Given the description of an element on the screen output the (x, y) to click on. 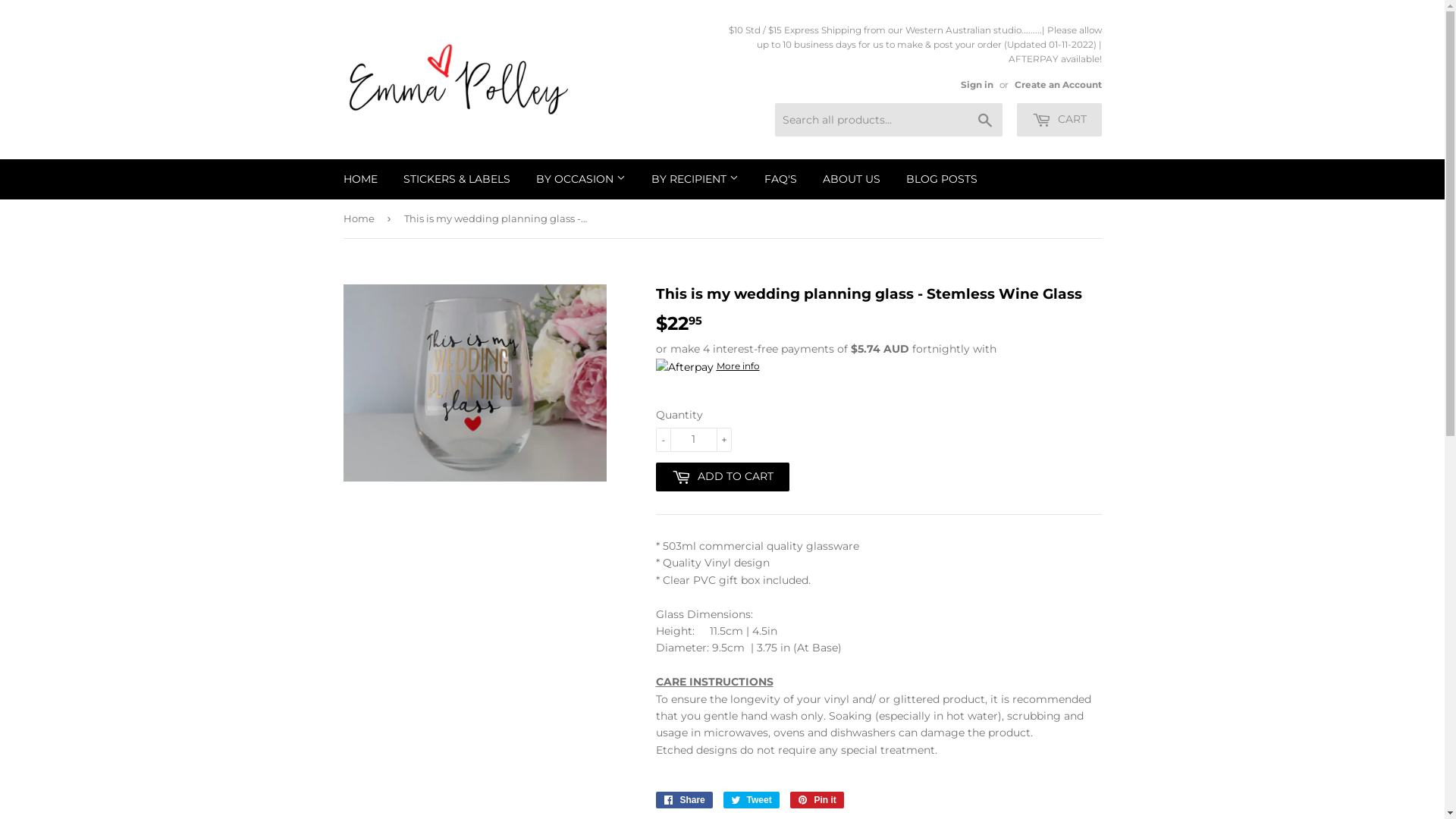
More info Element type: text (707, 366)
Share
Share on Facebook Element type: text (683, 799)
ADD TO CART Element type: text (721, 476)
STICKERS & LABELS Element type: text (455, 178)
BLOG POSTS Element type: text (941, 178)
Pin it
Pin on Pinterest Element type: text (817, 799)
BY OCCASION Element type: text (580, 178)
CART Element type: text (1058, 119)
HOME Element type: text (360, 178)
FAQ'S Element type: text (779, 178)
ABOUT US Element type: text (851, 178)
Sign in Element type: text (976, 84)
Home Element type: text (360, 218)
Create an Account Element type: text (1057, 84)
Tweet
Tweet on Twitter Element type: text (751, 799)
BY RECIPIENT Element type: text (694, 178)
Search Element type: text (984, 120)
